Given the description of an element on the screen output the (x, y) to click on. 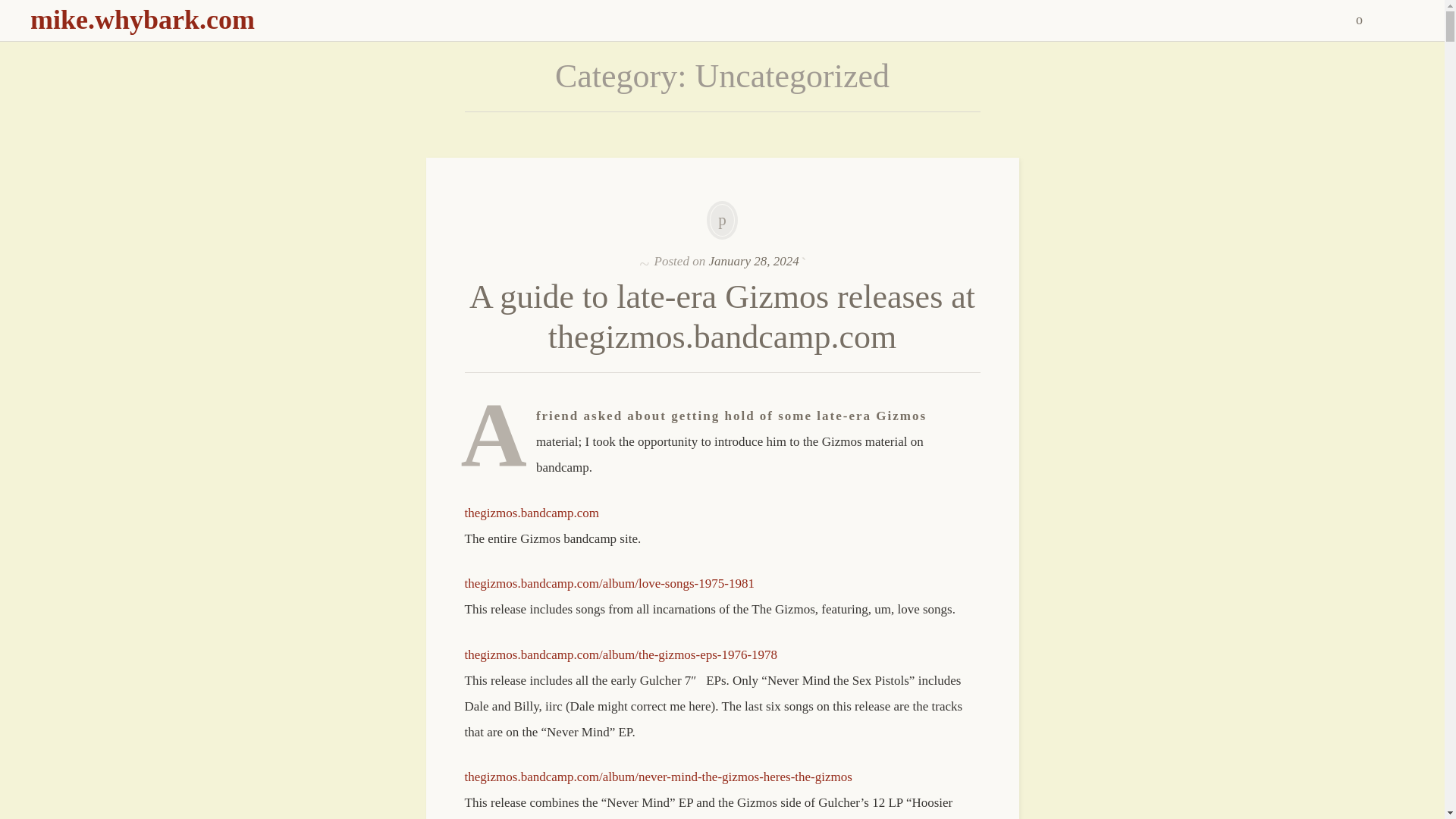
mike.whybark.com (142, 19)
mike.whybark.com (142, 19)
January 28, 2024 (752, 260)
thegizmos.bandcamp.com (531, 513)
Search (11, 9)
